Given the description of an element on the screen output the (x, y) to click on. 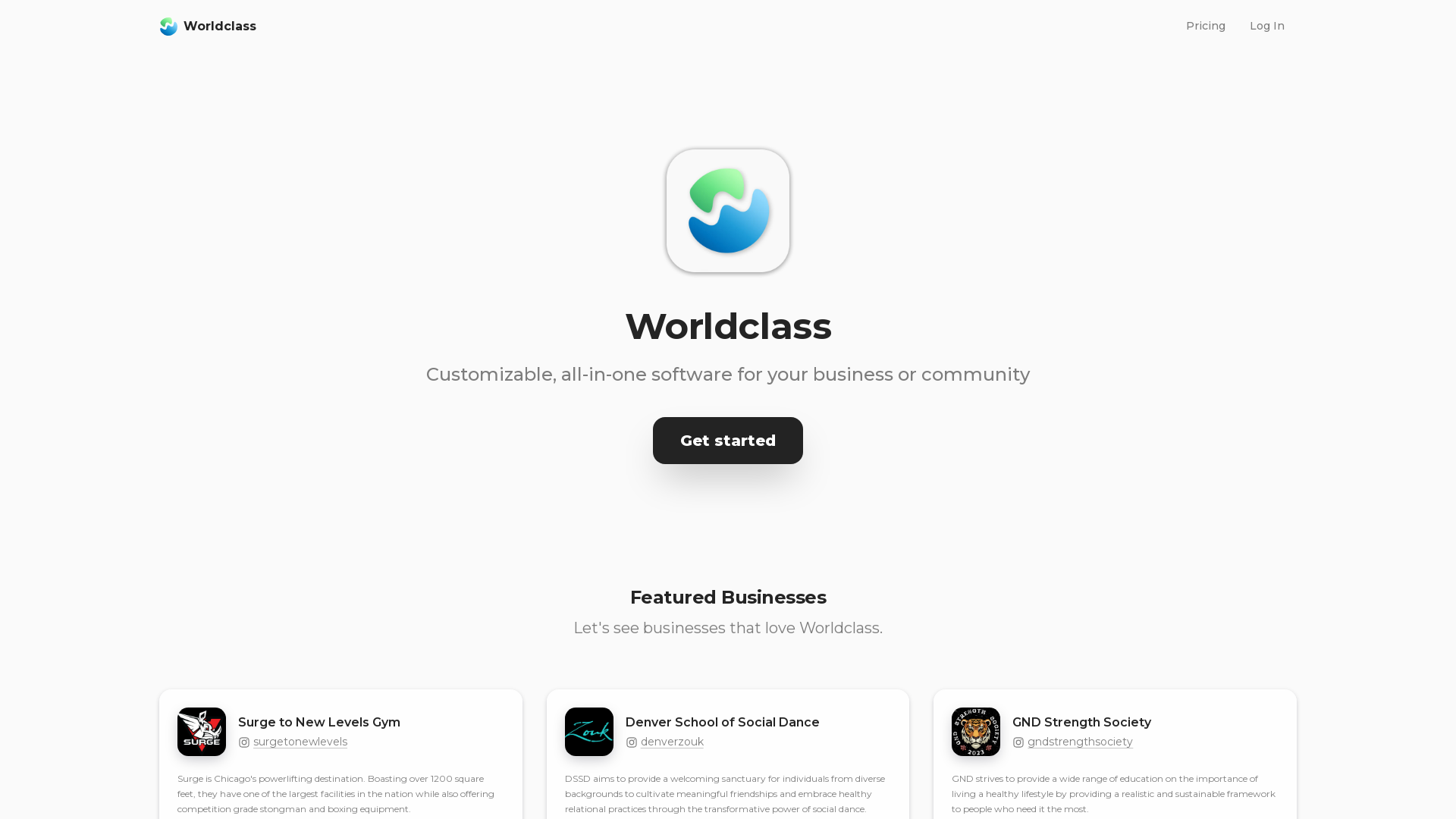
denverzouk Element type: text (671, 741)
Get started Element type: text (727, 440)
Worldclass Element type: text (660, 26)
Log In Element type: text (1266, 25)
gndstrengthsociety Element type: text (1079, 741)
Pricing Element type: text (1205, 25)
surgetonewlevels Element type: text (300, 741)
